Given the description of an element on the screen output the (x, y) to click on. 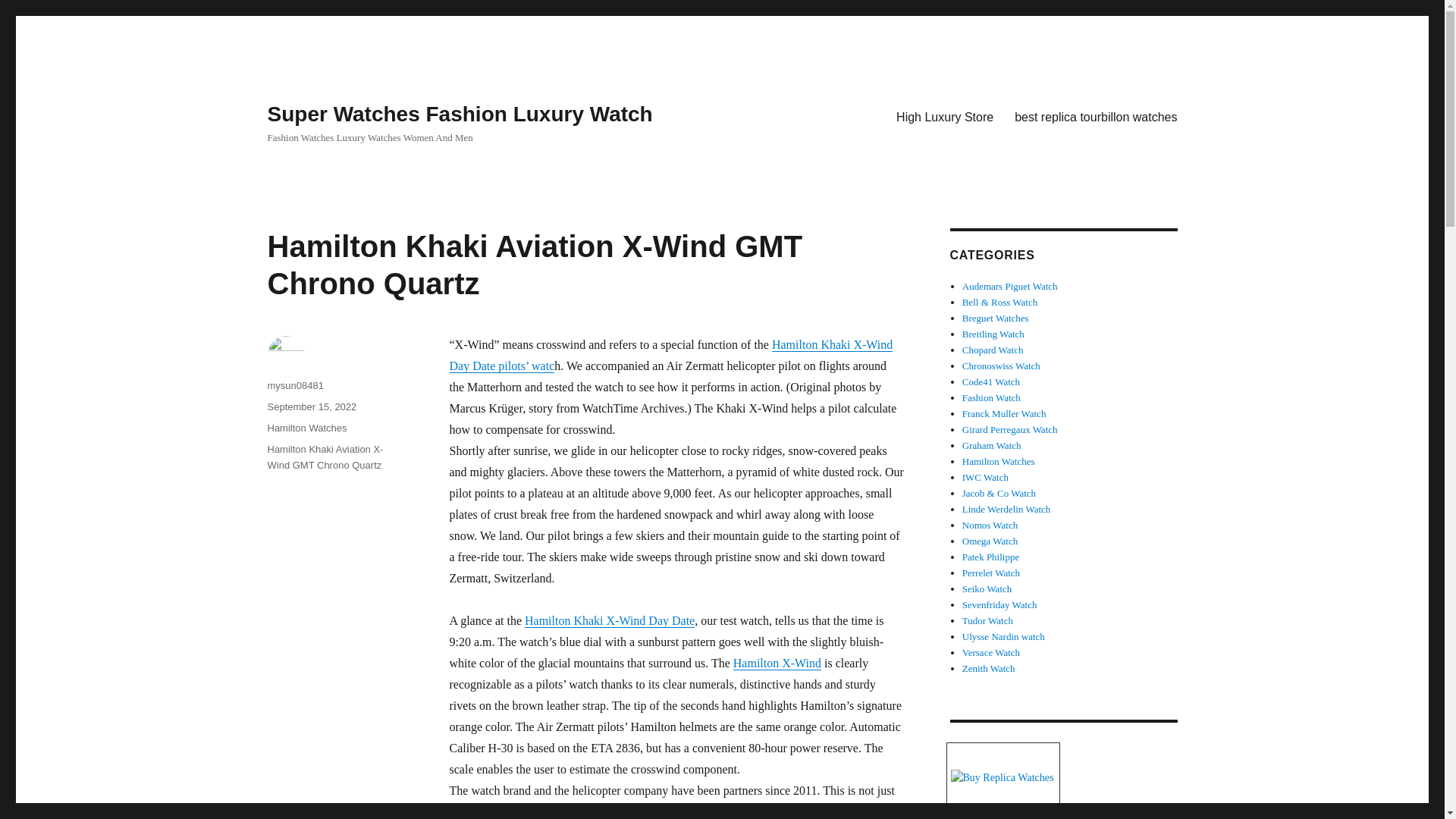
Hamilton Khaki Aviation X-Wind GMT Chrono Quartz (324, 456)
Fashion Watch (991, 397)
Girard Perregaux Watch (1010, 429)
Linde Werdelin Watch (1006, 509)
Sevenfriday Watch (999, 604)
Breitling Watch (993, 333)
Hamilton X-Wind (777, 662)
Tudor Watch (987, 620)
Nomos Watch (989, 524)
best replica tourbillon watches (1096, 116)
